Given the description of an element on the screen output the (x, y) to click on. 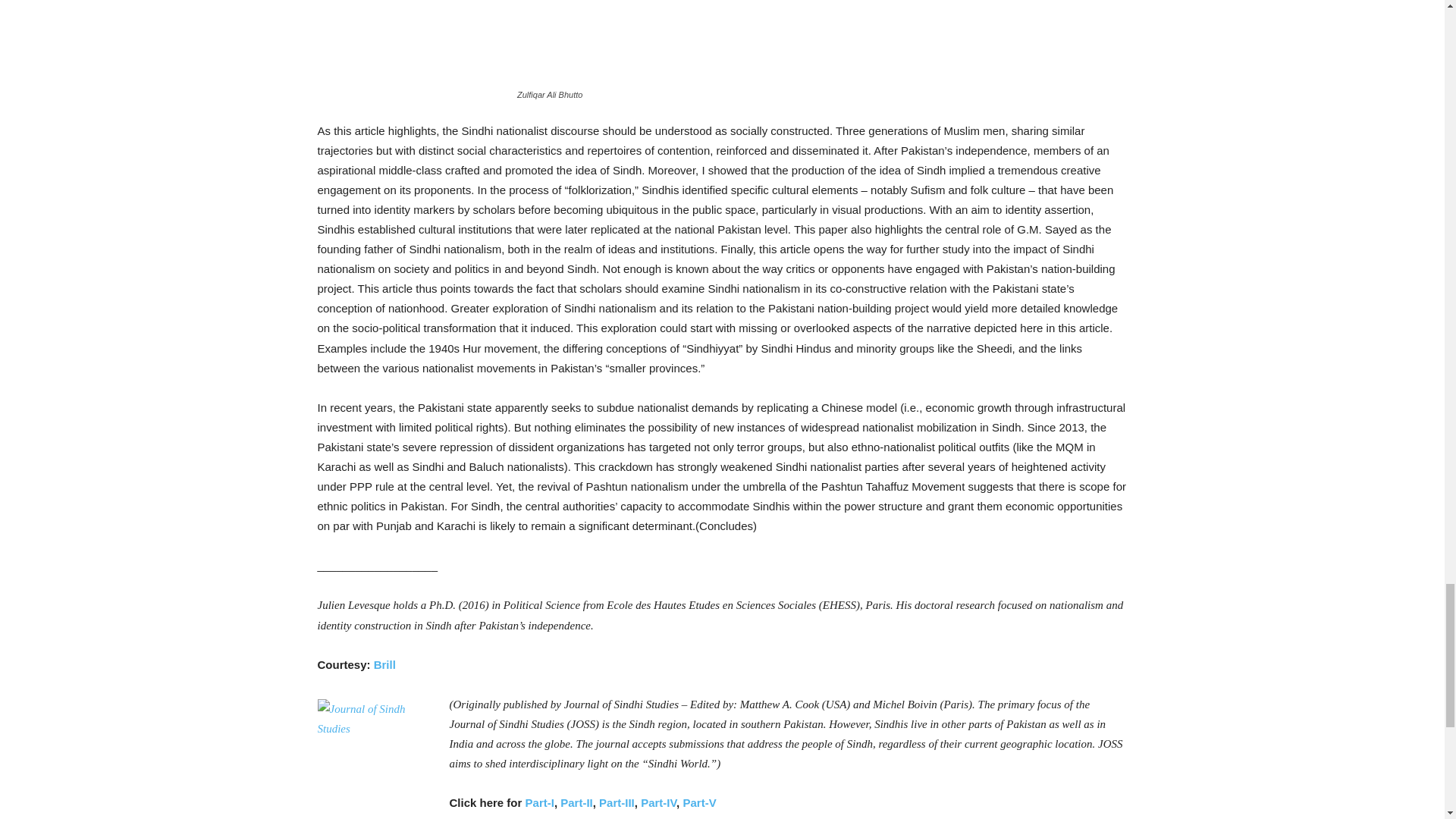
Part-IV (658, 802)
Part-III (616, 802)
Brill (385, 664)
 Part-II (574, 802)
Part-I (539, 802)
